Given the description of an element on the screen output the (x, y) to click on. 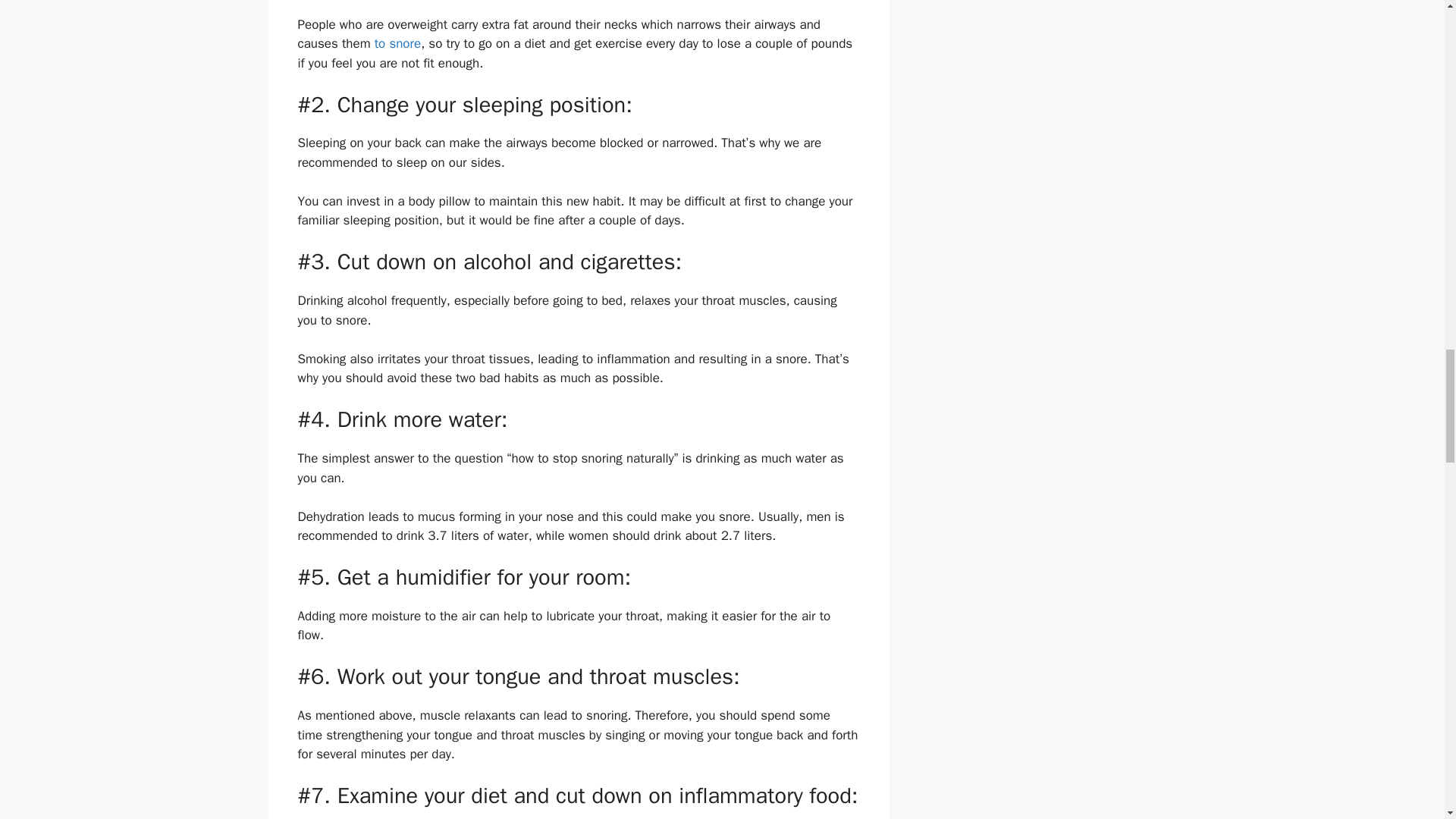
to snore (397, 43)
